Given the description of an element on the screen output the (x, y) to click on. 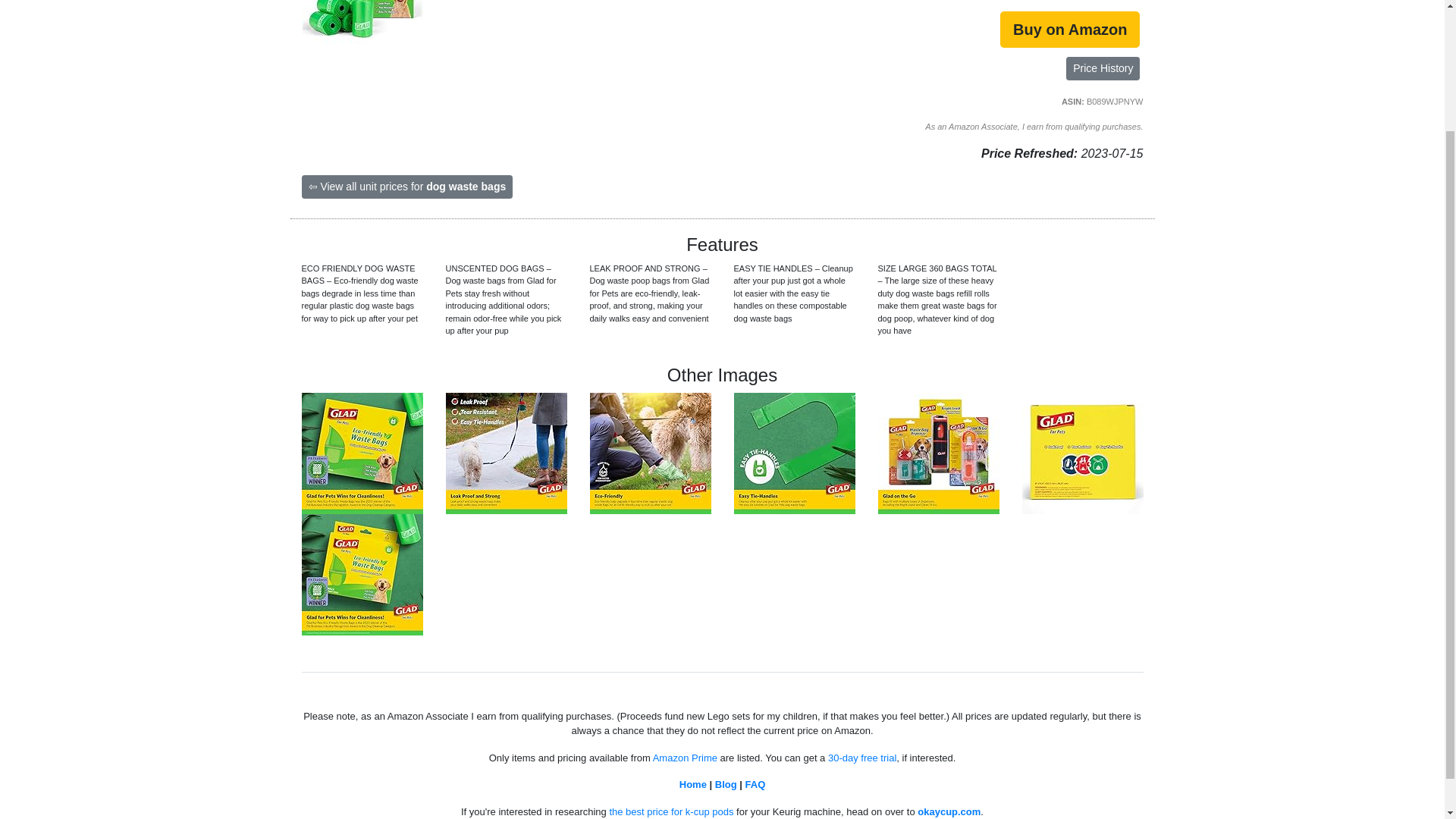
Home (692, 784)
okaycup.com (948, 811)
Blog (725, 784)
30-day free trial (862, 757)
Price History (1102, 68)
Buy on Amazon (1070, 29)
the best price for k-cup pods (670, 811)
Amazon Prime (684, 757)
FAQ (755, 784)
